Given the description of an element on the screen output the (x, y) to click on. 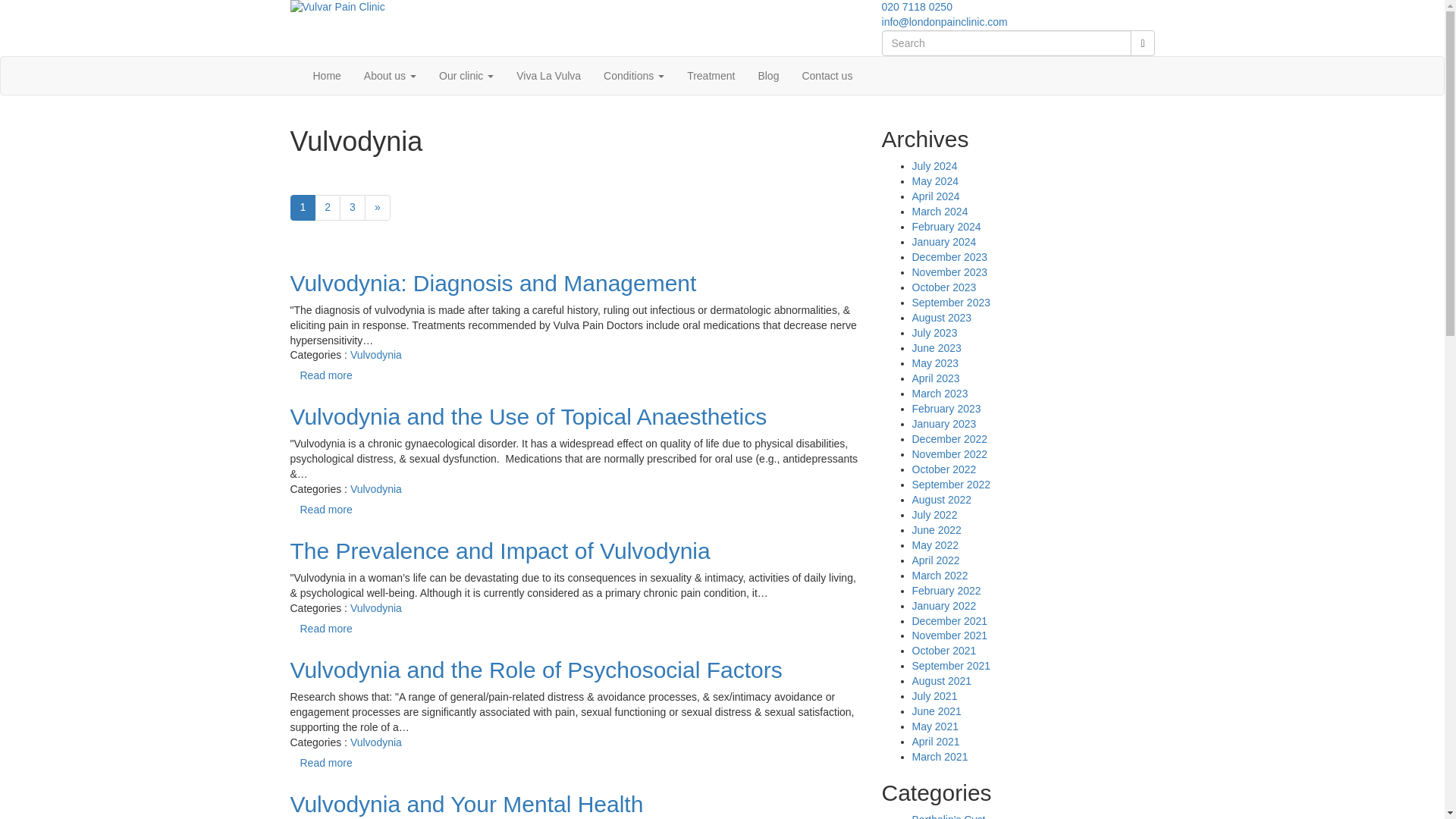
Vulvodynia and the Use of Topical Anaesthetics (574, 416)
The Prevalence and Impact of Vulvodynia (574, 550)
Read more (325, 763)
Vulvodynia: Diagnosis and Management (574, 283)
Read more (325, 629)
Read more (325, 510)
Our clinic (466, 75)
3 (352, 207)
Read more (325, 376)
Contact us (826, 75)
Blog (767, 75)
020 7118 0250 (917, 6)
2 (327, 207)
Vulvodynia (375, 354)
Conditions (633, 75)
